Given the description of an element on the screen output the (x, y) to click on. 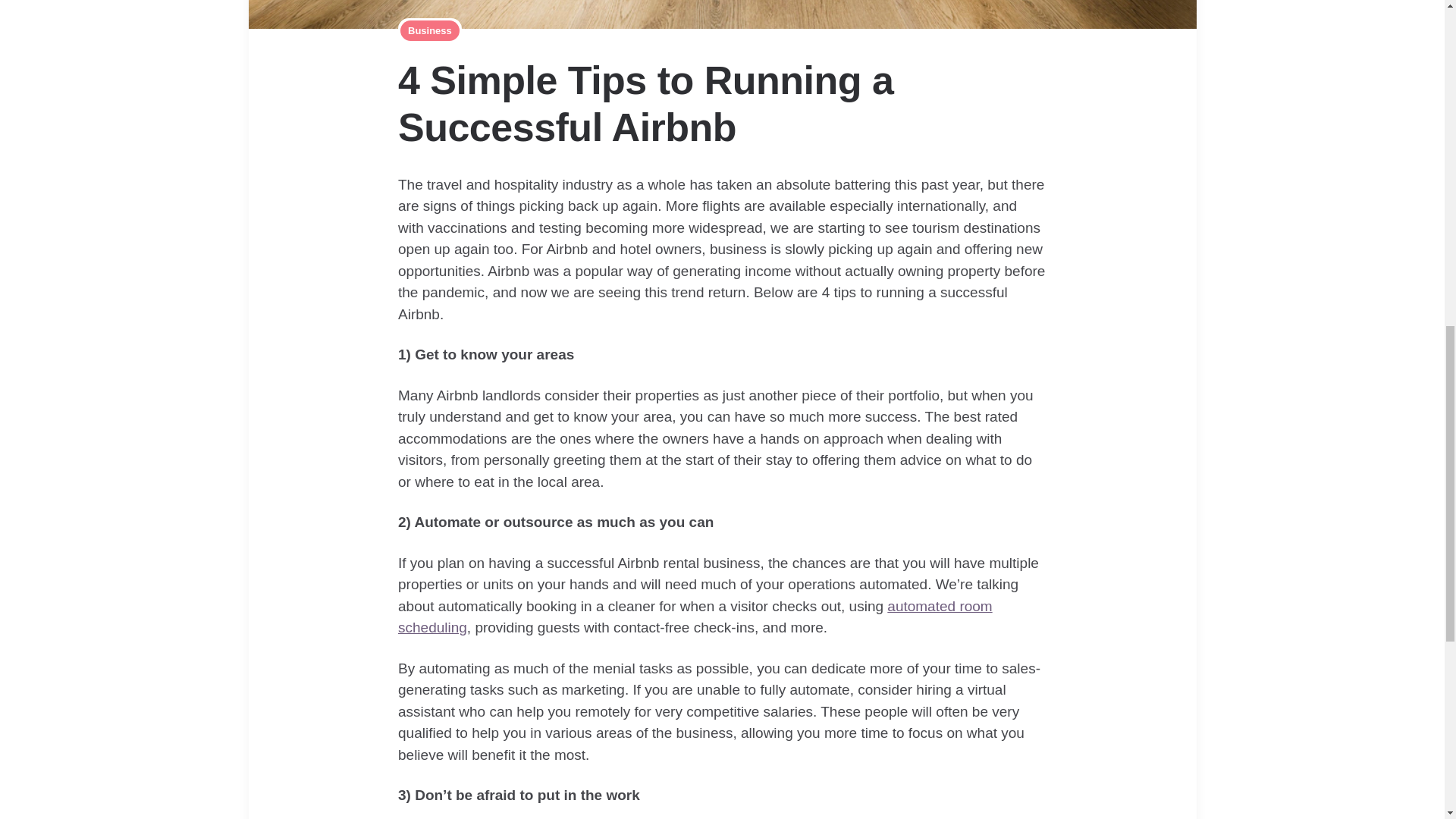
automated room scheduling (694, 617)
Business (430, 30)
